Given the description of an element on the screen output the (x, y) to click on. 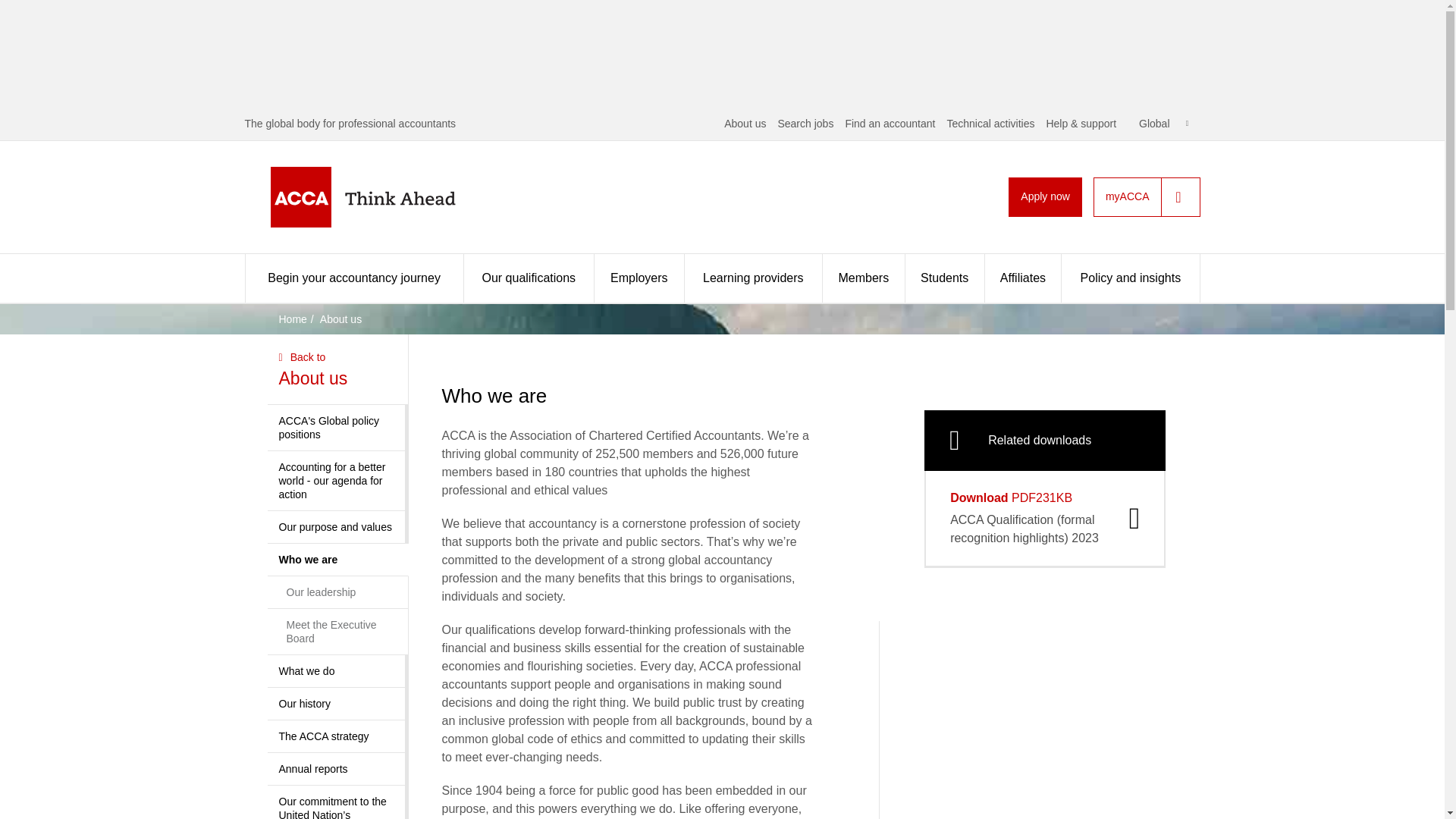
Technical activities (989, 123)
About us (744, 123)
Search jobs (804, 123)
Find an accountant (889, 123)
Home (387, 197)
Global (1162, 123)
Global (1162, 123)
